Given the description of an element on the screen output the (x, y) to click on. 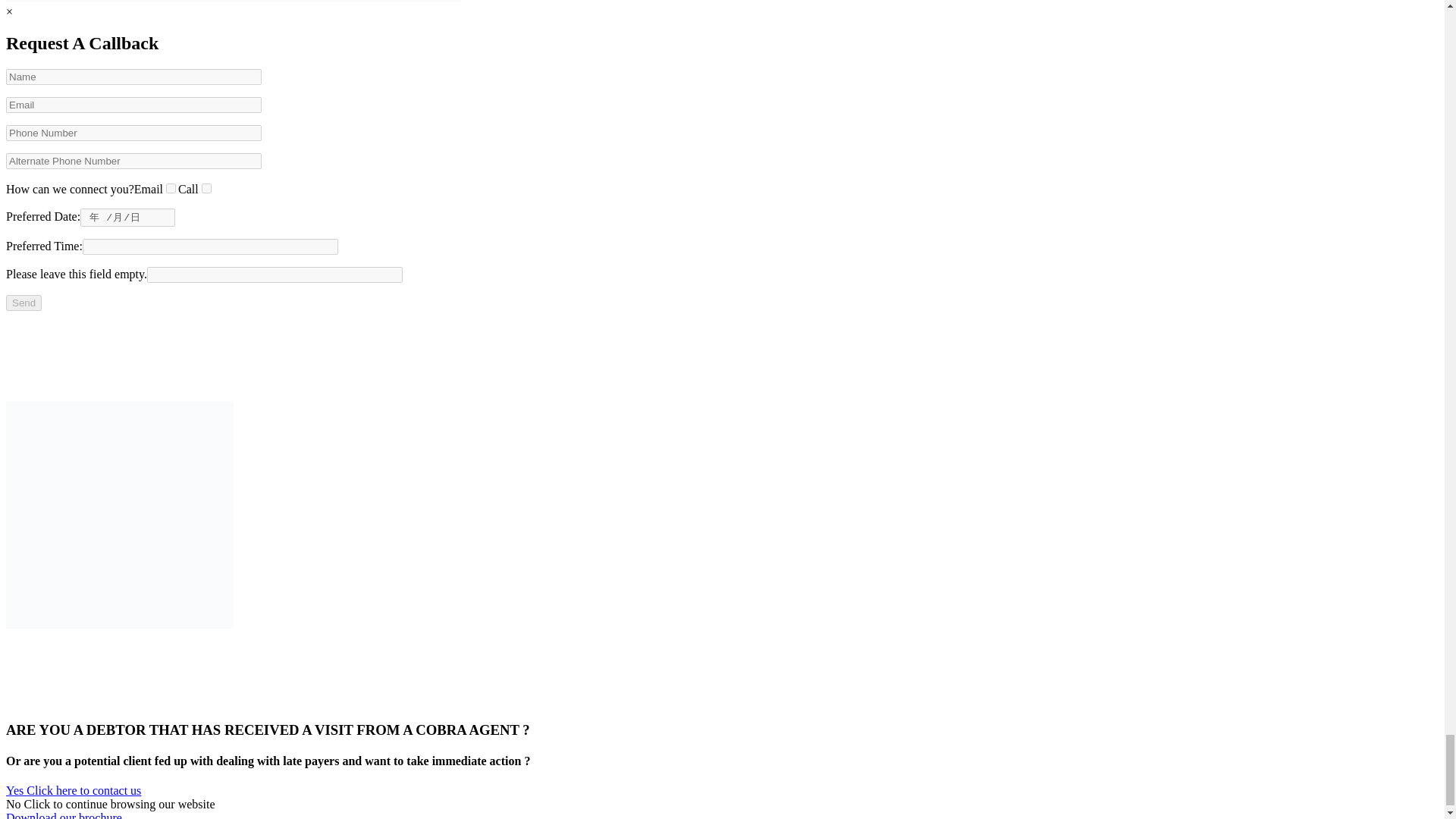
Email (170, 188)
Send (23, 302)
Call (206, 188)
